Given the description of an element on the screen output the (x, y) to click on. 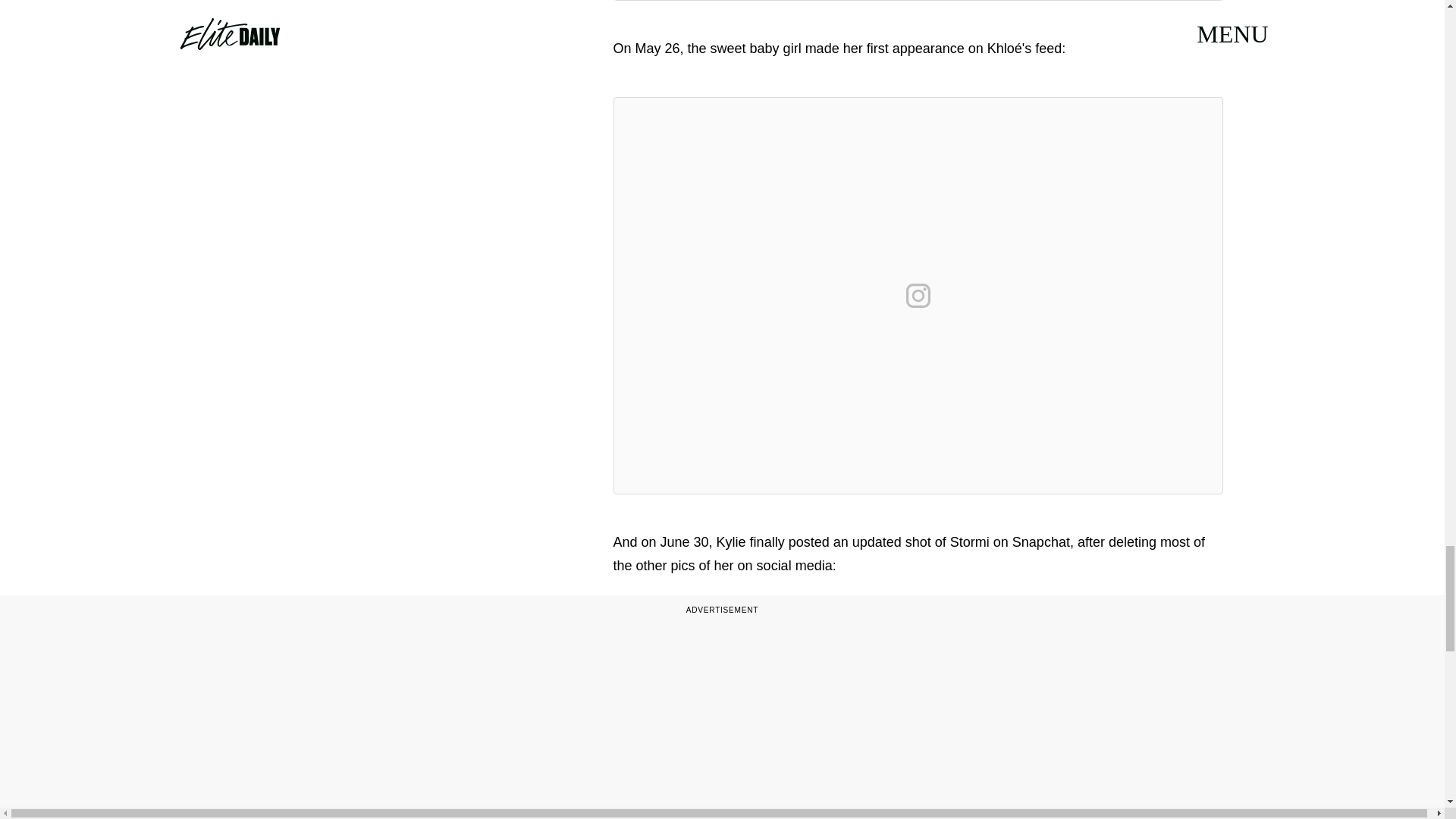
View on Instagram (917, 295)
